Given the description of an element on the screen output the (x, y) to click on. 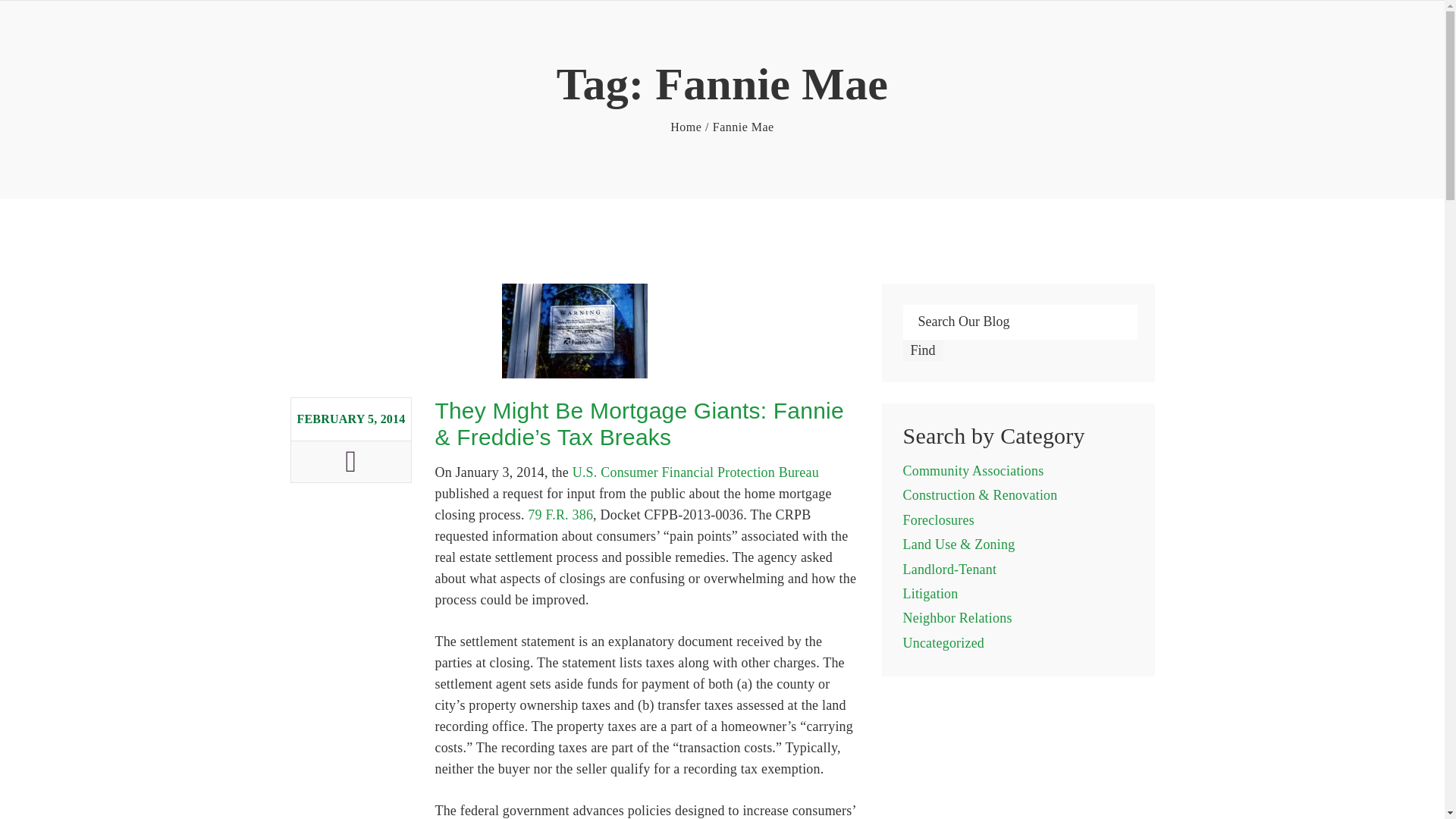
79 F.R. 386 (559, 514)
Home (685, 127)
Cowherd PLC (685, 127)
U.S. Consumer Financial Protection Bureau (695, 472)
Community Associations (972, 470)
Find (922, 350)
